Given the description of an element on the screen output the (x, y) to click on. 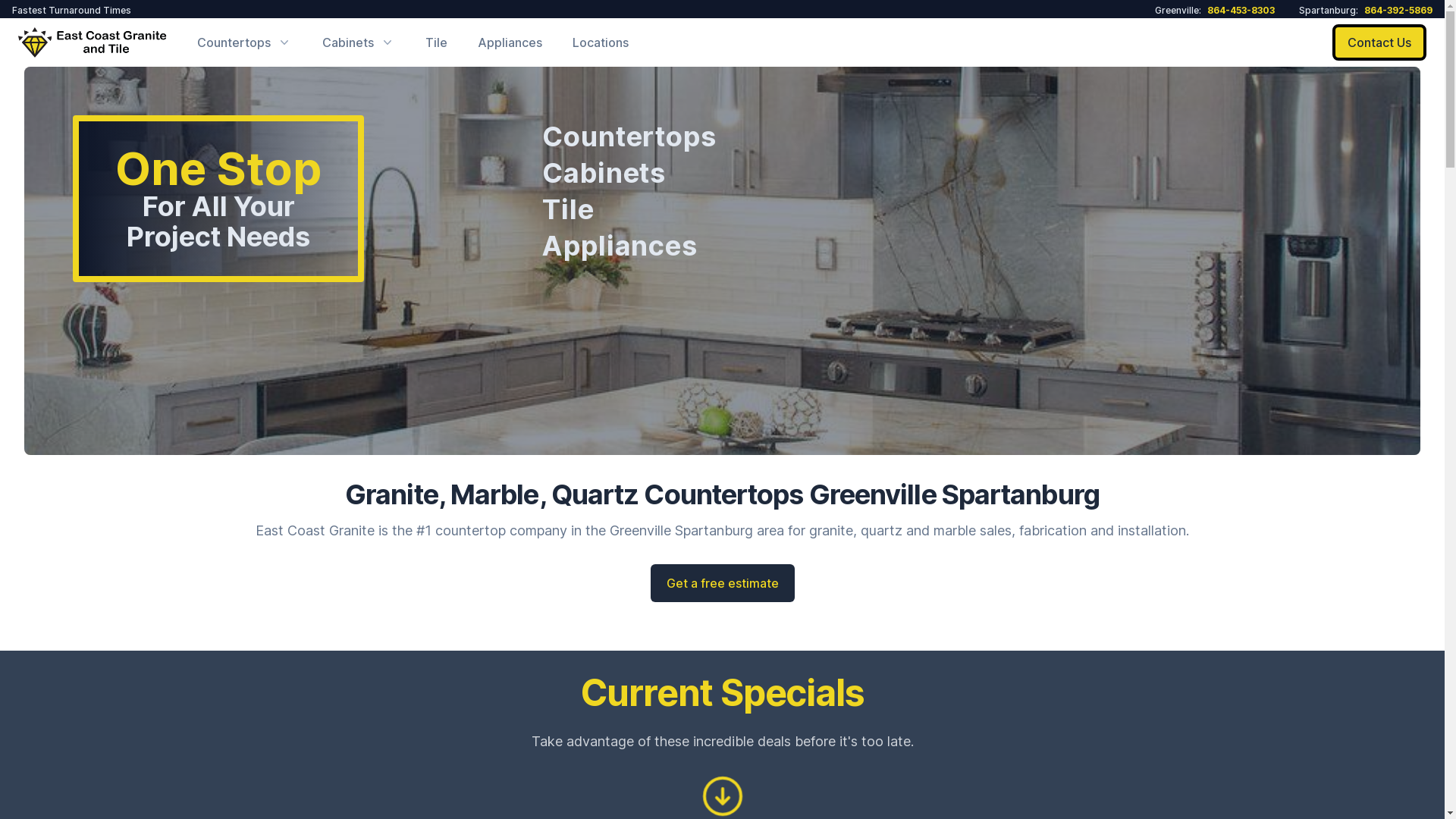
Appliances Element type: text (740, 245)
Get a free estimate Element type: text (722, 583)
Cabinets Element type: text (358, 42)
Locations Element type: text (600, 42)
East Coast Granite & Tile Element type: text (92, 42)
Cabinets Element type: text (740, 172)
Countertops Element type: text (244, 42)
Countertops Element type: text (740, 136)
Greenville:864-453-8303 Element type: text (1214, 9)
Contact Us Element type: text (1379, 42)
Appliances Element type: text (509, 42)
Tile Element type: text (436, 42)
Tile Element type: text (740, 209)
Spartanburg:864-392-5869 Element type: text (1365, 9)
